Given the description of an element on the screen output the (x, y) to click on. 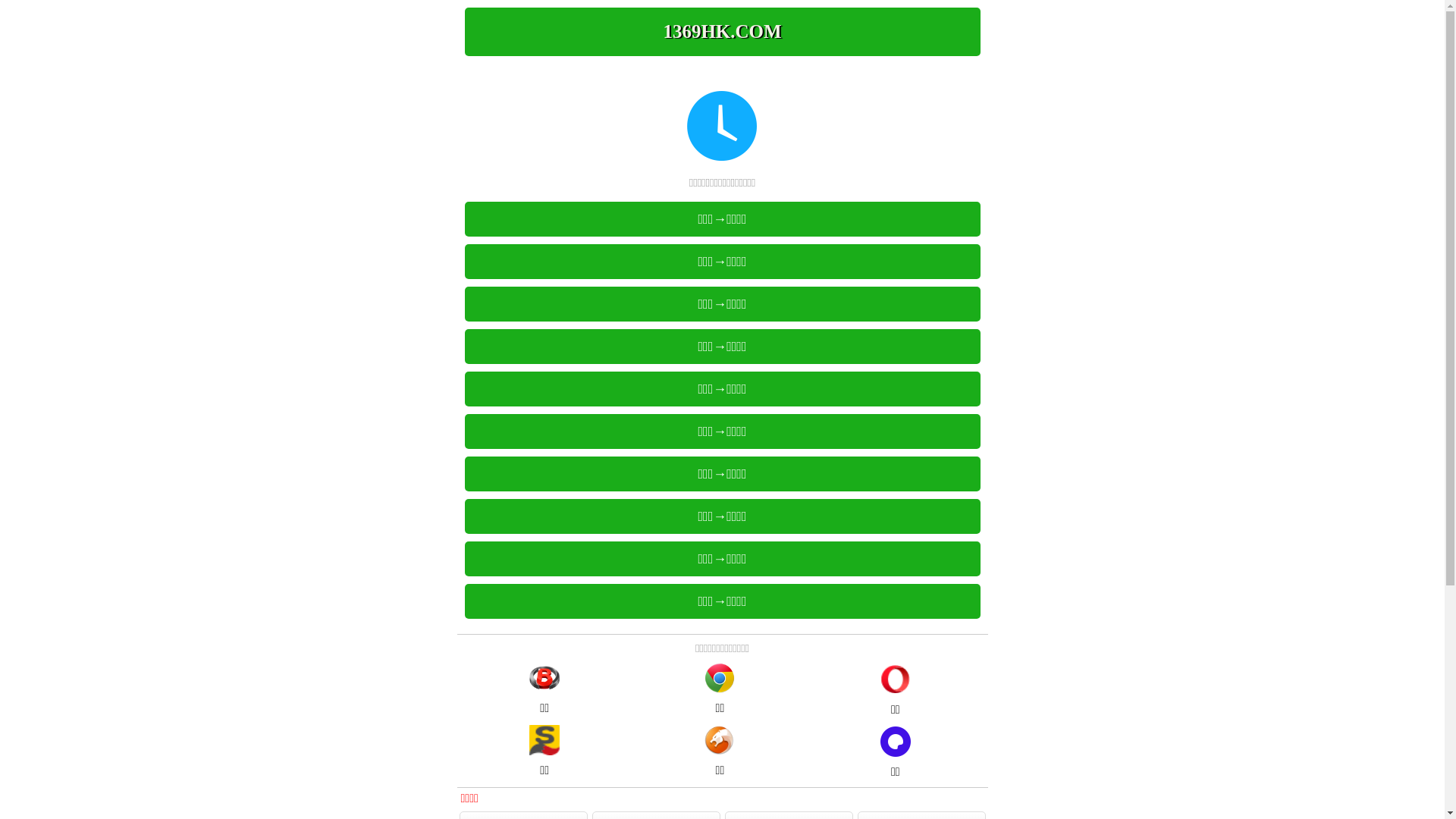
1369HK.COM Element type: text (721, 31)
